Given the description of an element on the screen output the (x, y) to click on. 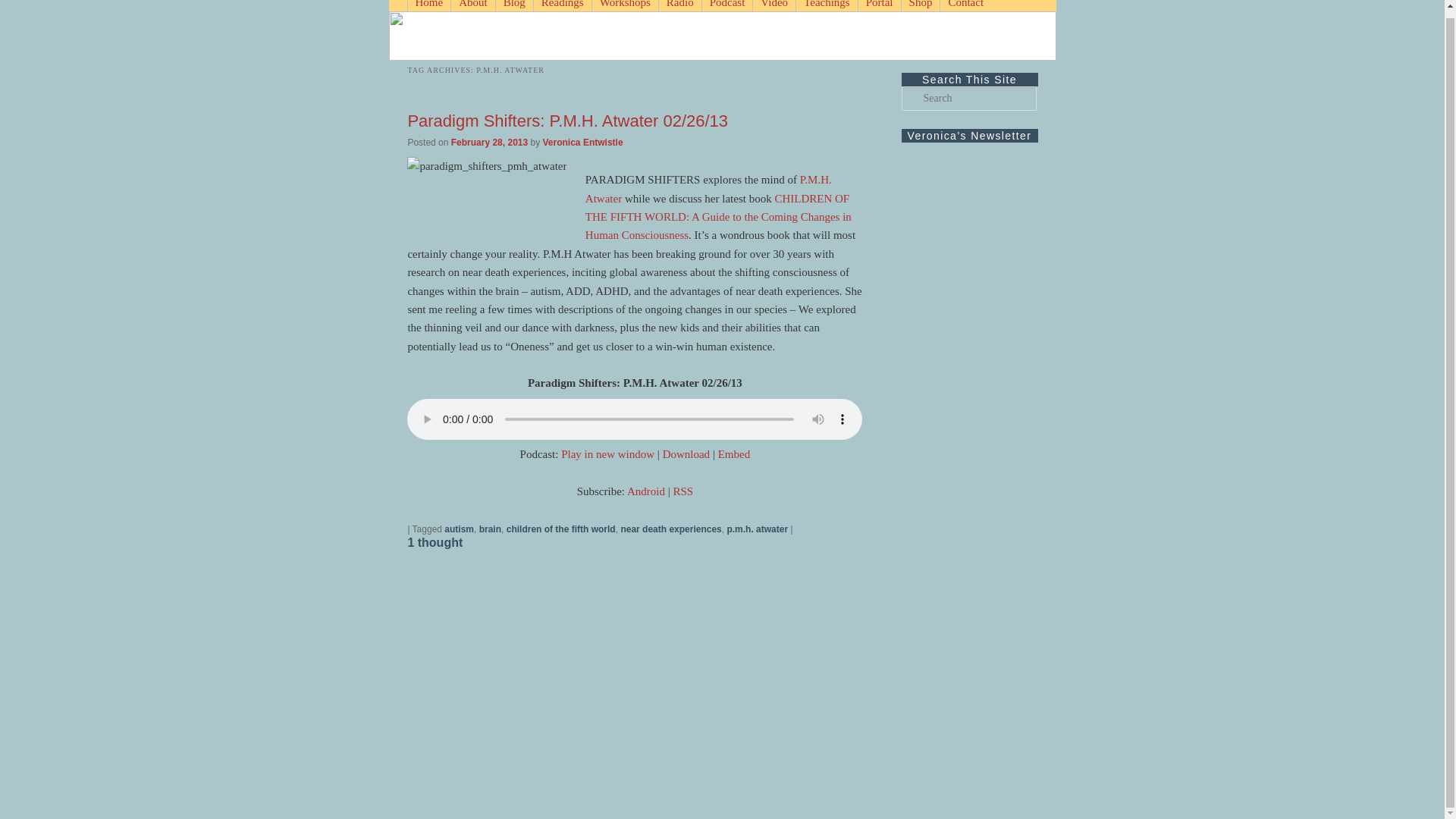
Download (686, 453)
P.M.H. Atwater (708, 188)
Veronica Entwistle (583, 142)
Shop (920, 5)
brain (489, 529)
Readings (561, 5)
Video (773, 5)
February 28, 2013 (489, 142)
Home (427, 5)
Skip to secondary content (473, 5)
